Given the description of an element on the screen output the (x, y) to click on. 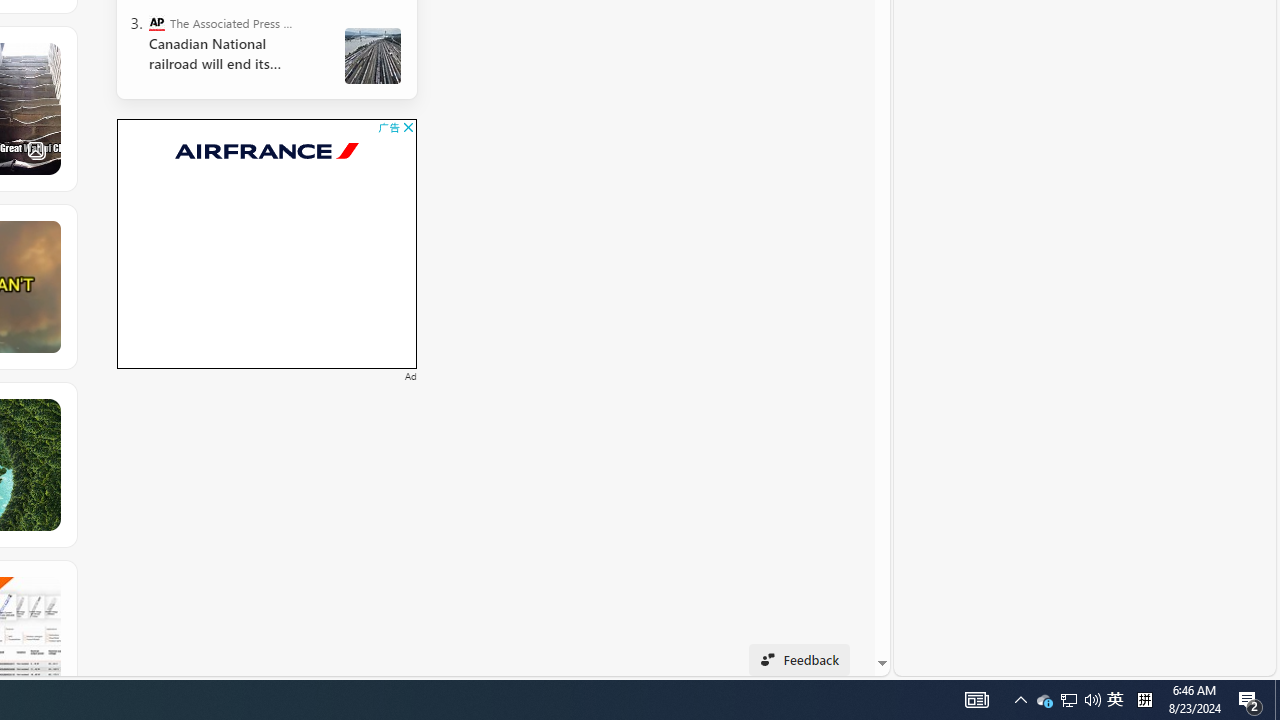
 Canada Railroads Unions (372, 56)
The Associated Press - Business News (156, 22)
AutomationID: cbb (408, 127)
